Given the description of an element on the screen output the (x, y) to click on. 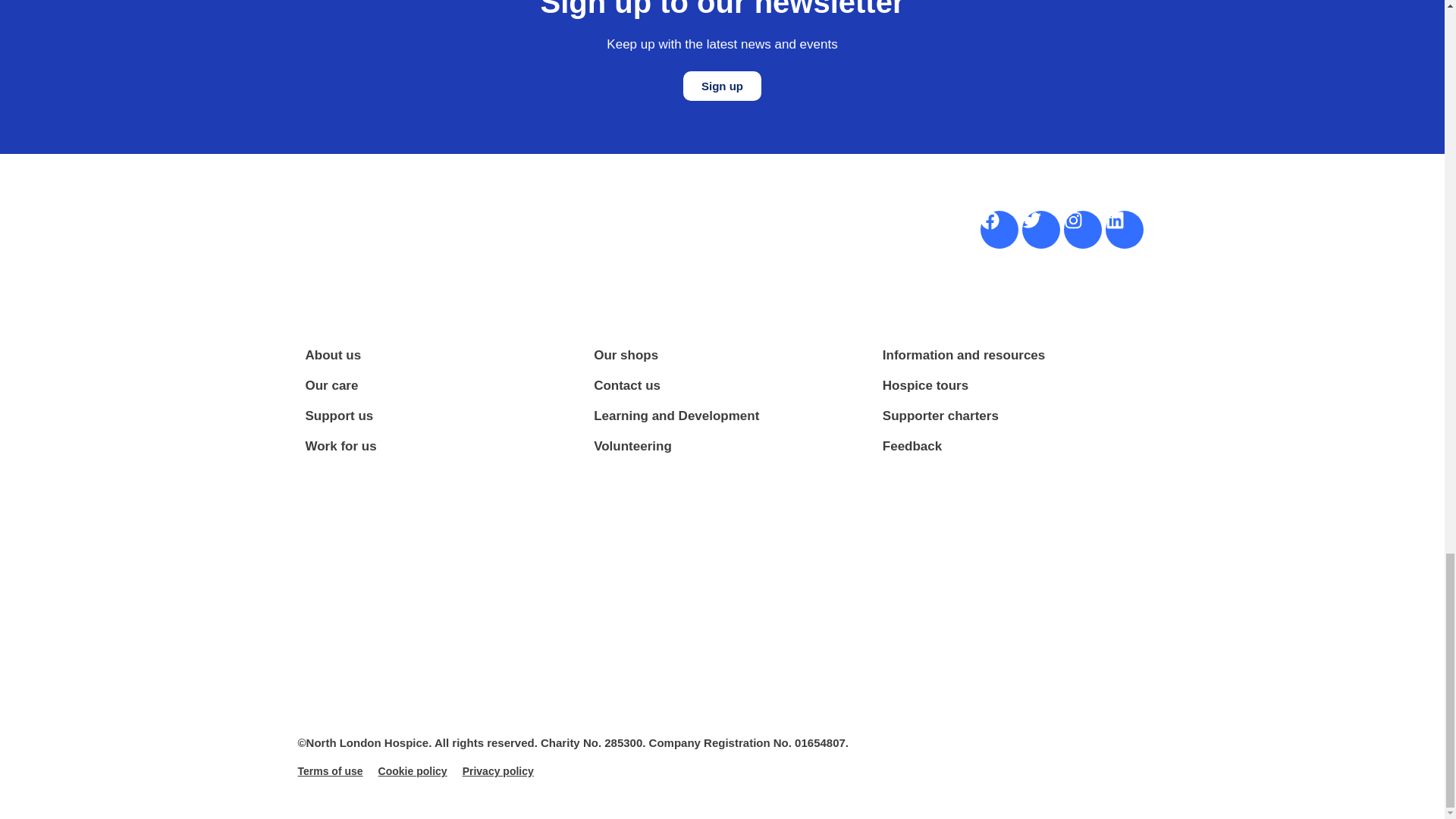
Disability Confident 1 (1097, 705)
